Given the description of an element on the screen output the (x, y) to click on. 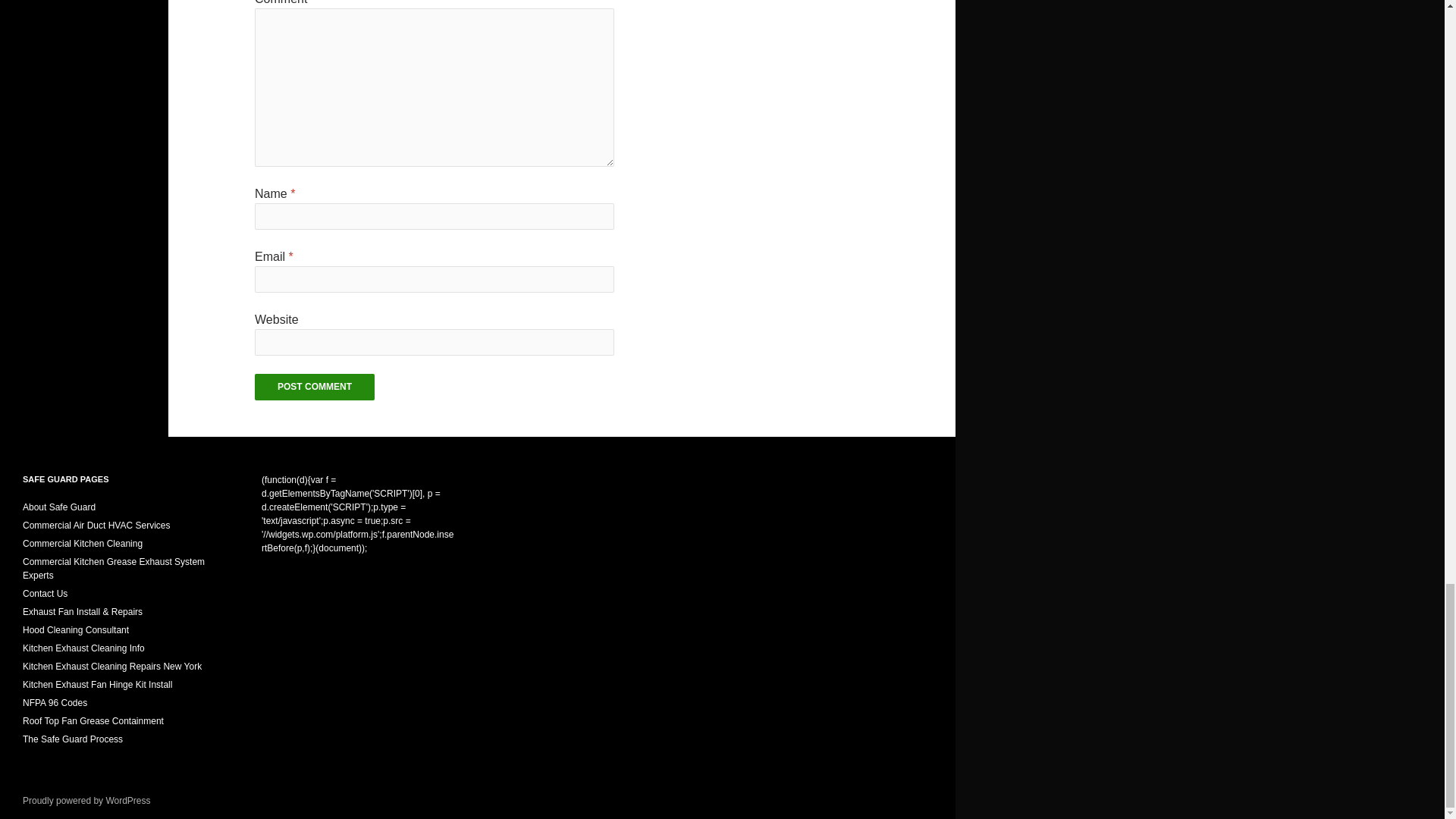
Post Comment (314, 386)
The Safe Guard Process (72, 738)
Kitchen Exhaust Fan Hinge Kit Install (97, 684)
Contact Us (44, 593)
Kitchen Exhaust Cleaning Info (83, 647)
Hood Cleaning Consultant (76, 629)
NFPA 96 Codes (55, 702)
About Safe Guard (59, 507)
Roof Top Fan Grease Containment (93, 720)
Kitchen Exhaust Cleaning Repairs New York (112, 665)
